Given the description of an element on the screen output the (x, y) to click on. 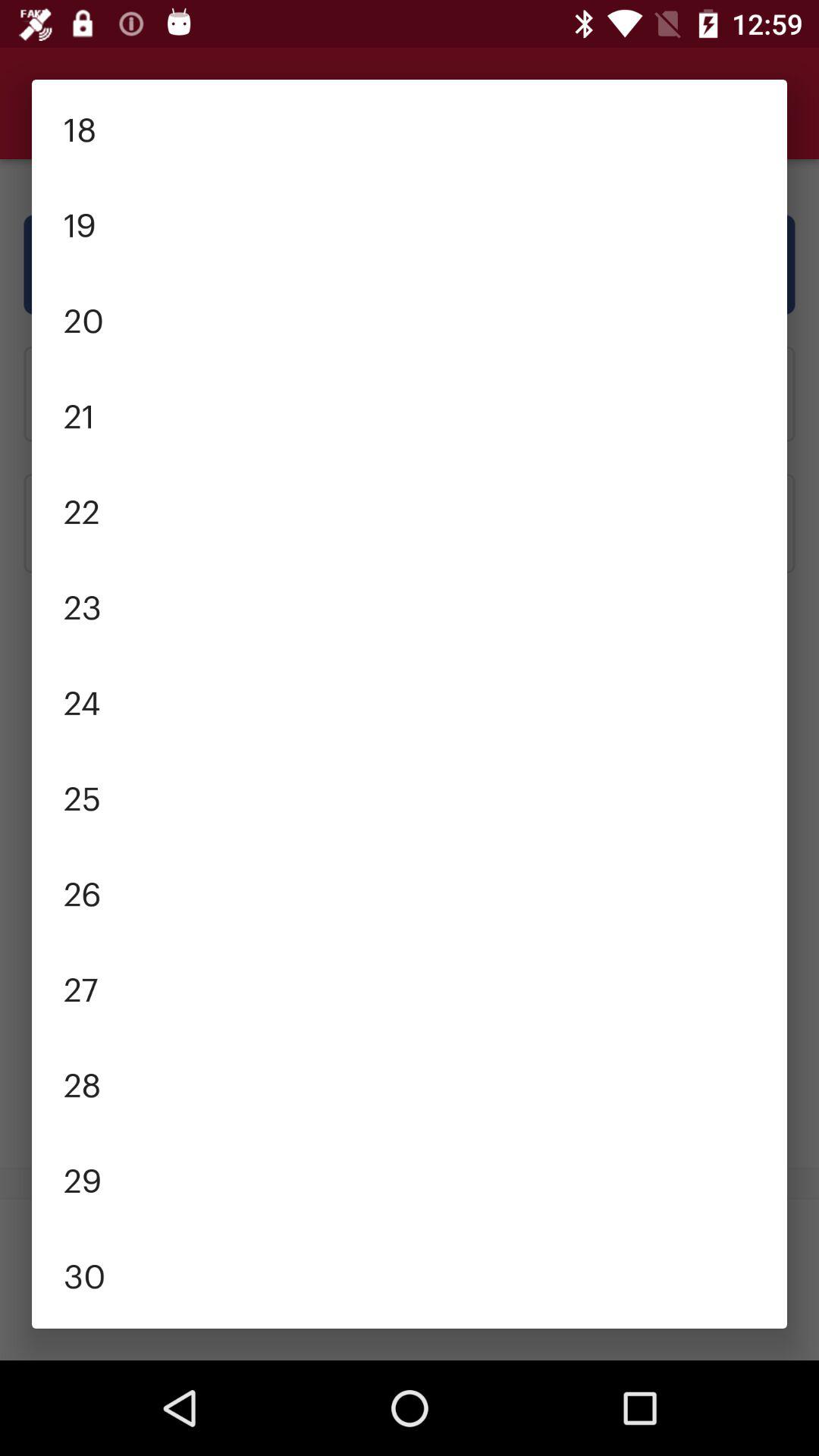
scroll until the 27 (409, 987)
